Given the description of an element on the screen output the (x, y) to click on. 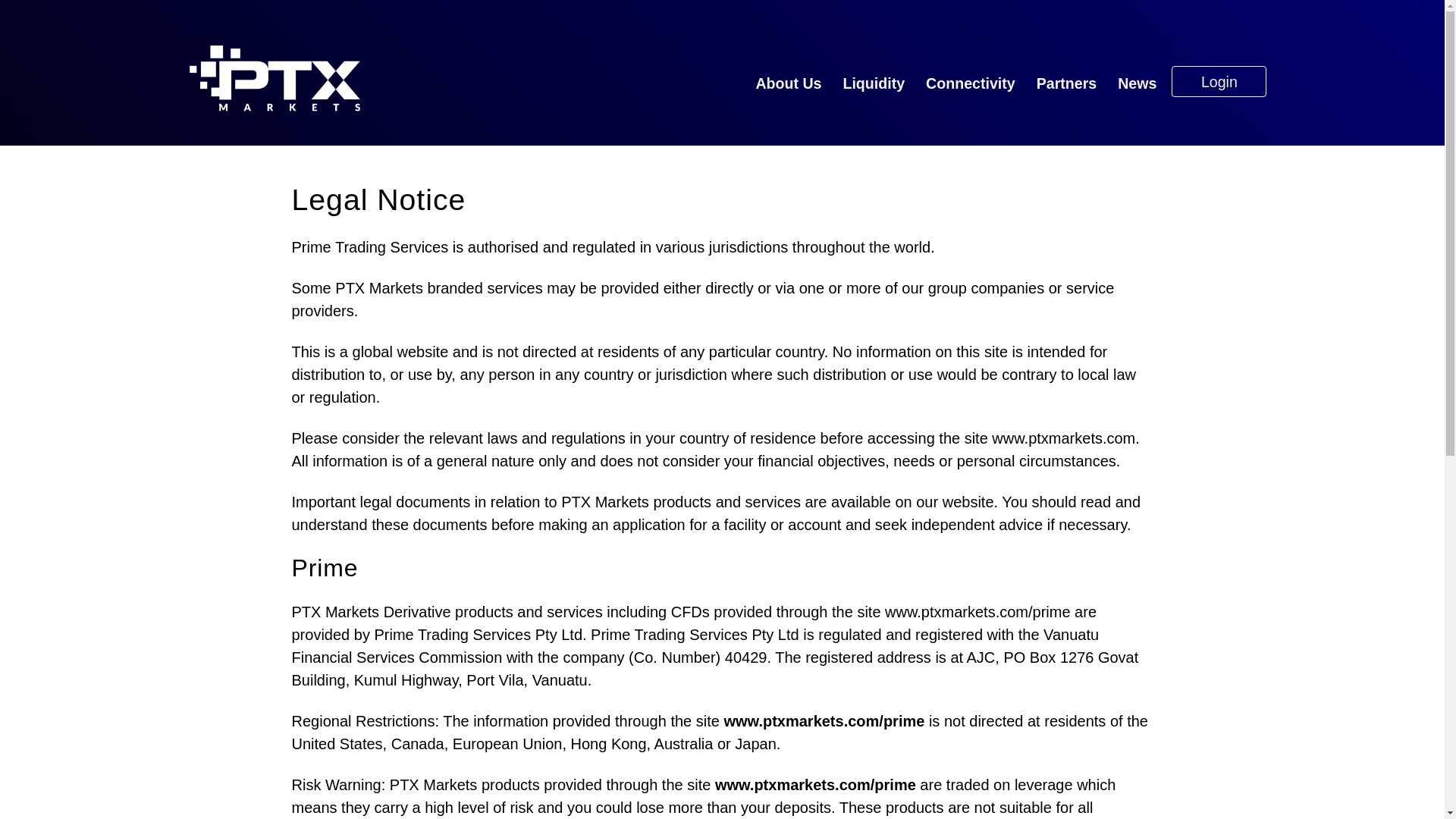
Connectivity (971, 83)
Partners (1066, 83)
About Us (788, 83)
News (1136, 83)
Login (1219, 81)
Liquidity (873, 83)
